Given the description of an element on the screen output the (x, y) to click on. 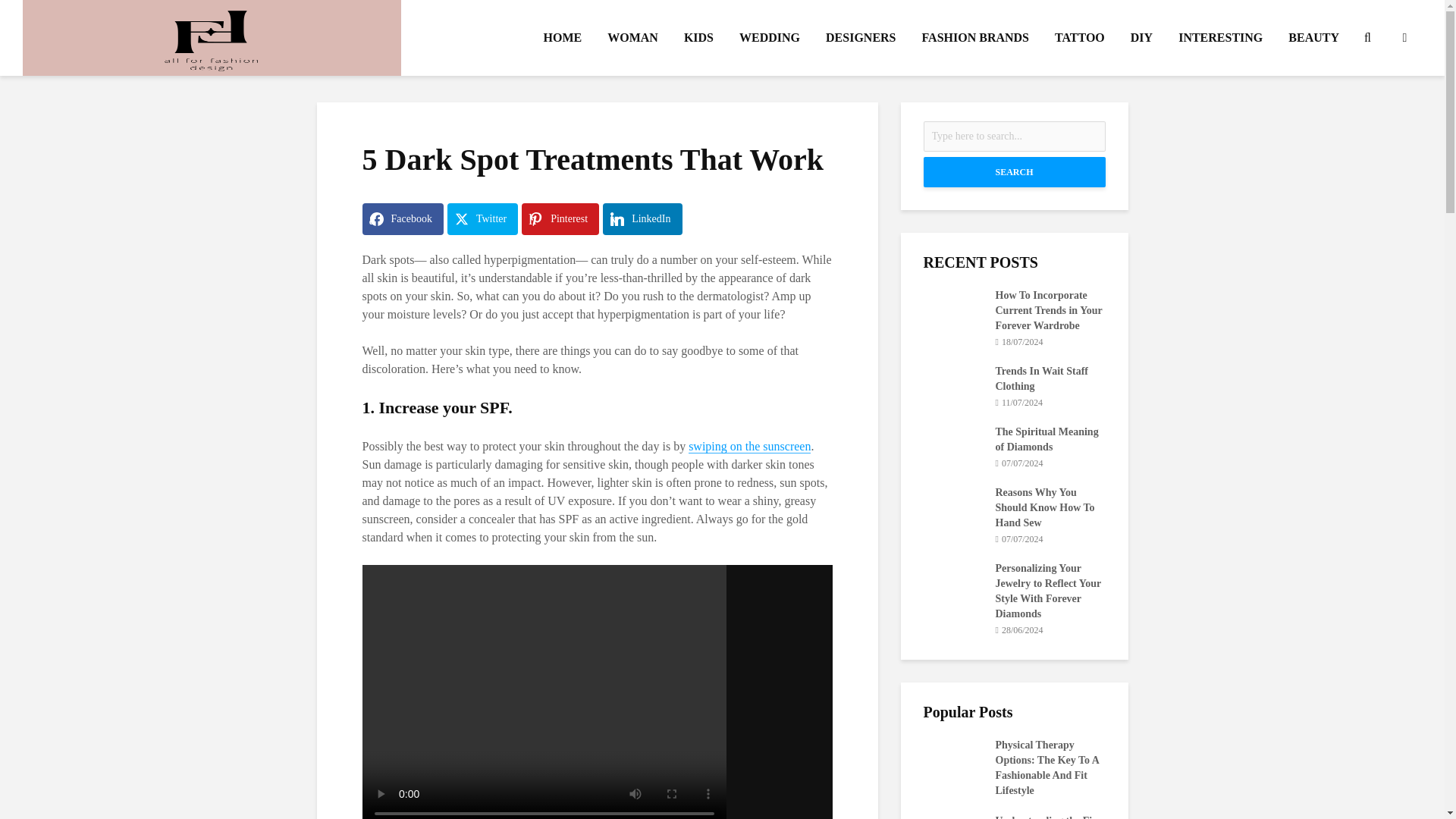
FASHION BRANDS (976, 37)
WEDDING (769, 37)
DIY (1141, 37)
KIDS (698, 37)
Share on LinkedIn (641, 219)
Share on Pinterest (559, 219)
Share on Twitter (482, 219)
HOME (563, 37)
INTERESTING (1220, 37)
DESIGNERS (860, 37)
Share on Facebook (403, 219)
TATTOO (1079, 37)
WOMAN (632, 37)
BEAUTY (1313, 37)
